Given the description of an element on the screen output the (x, y) to click on. 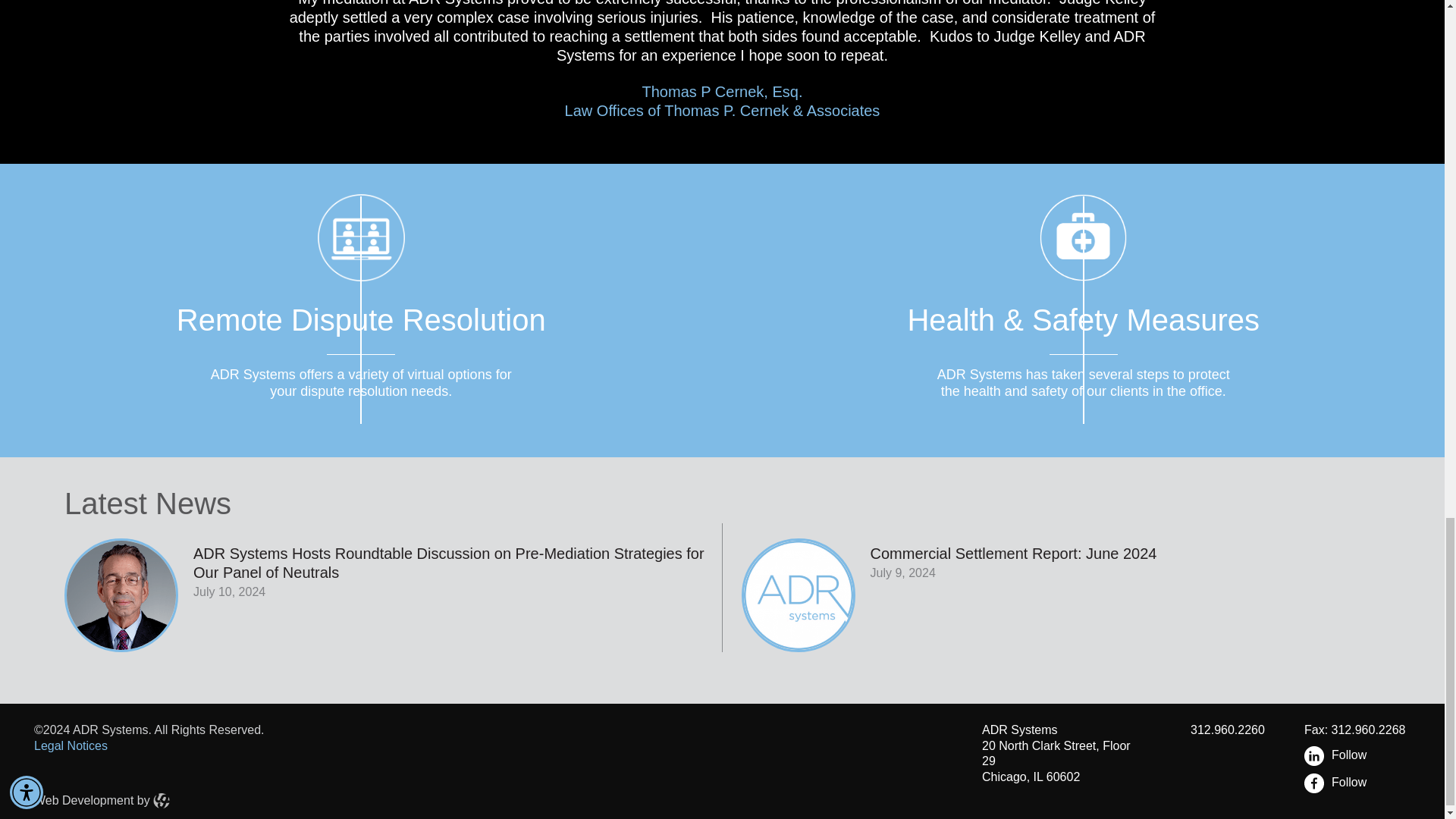
Follow (1364, 755)
Web Development (1051, 587)
Follow (83, 799)
Legal Notices (1364, 783)
